Given the description of an element on the screen output the (x, y) to click on. 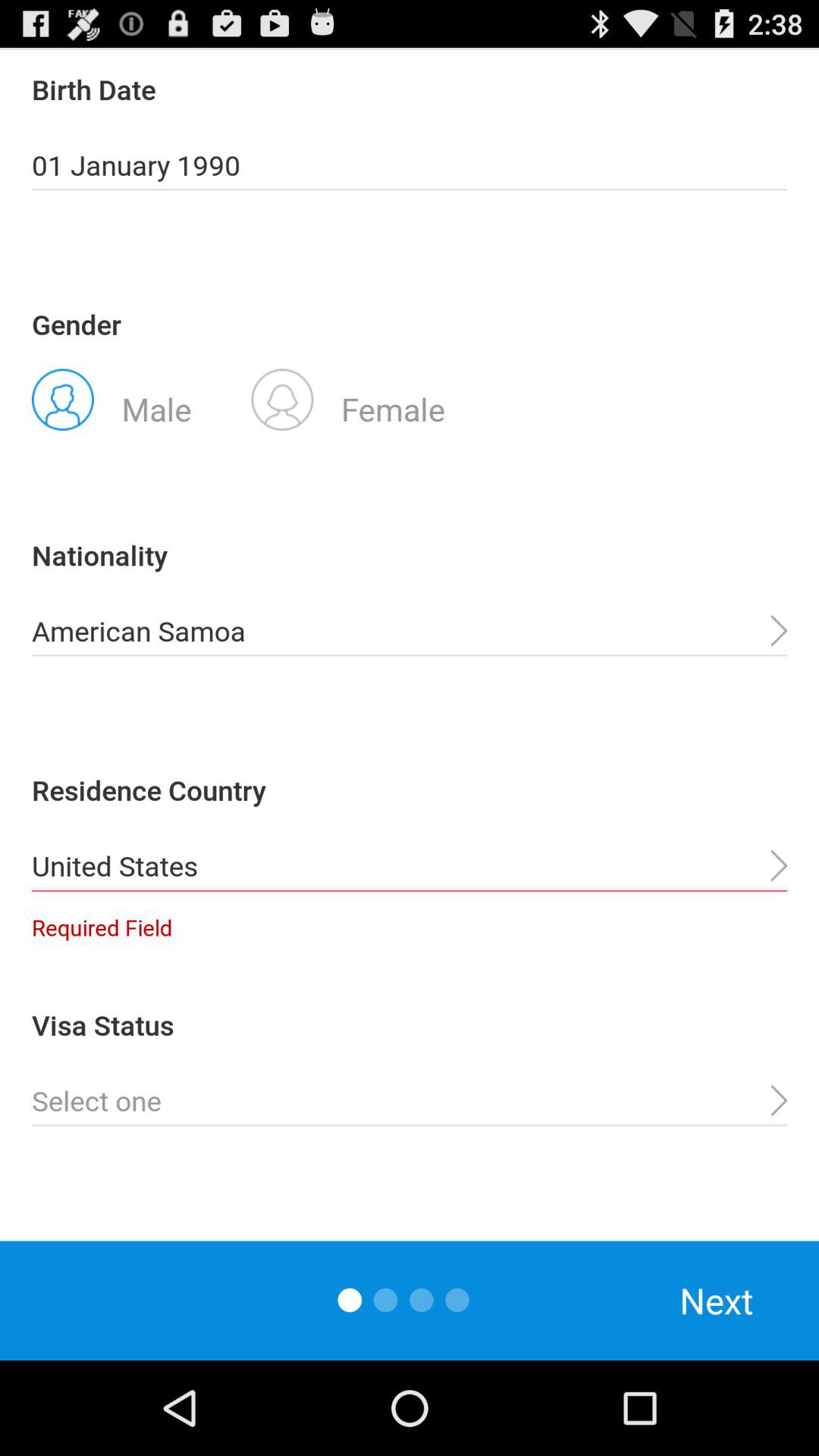
turn on the app below birth date item (409, 165)
